Given the description of an element on the screen output the (x, y) to click on. 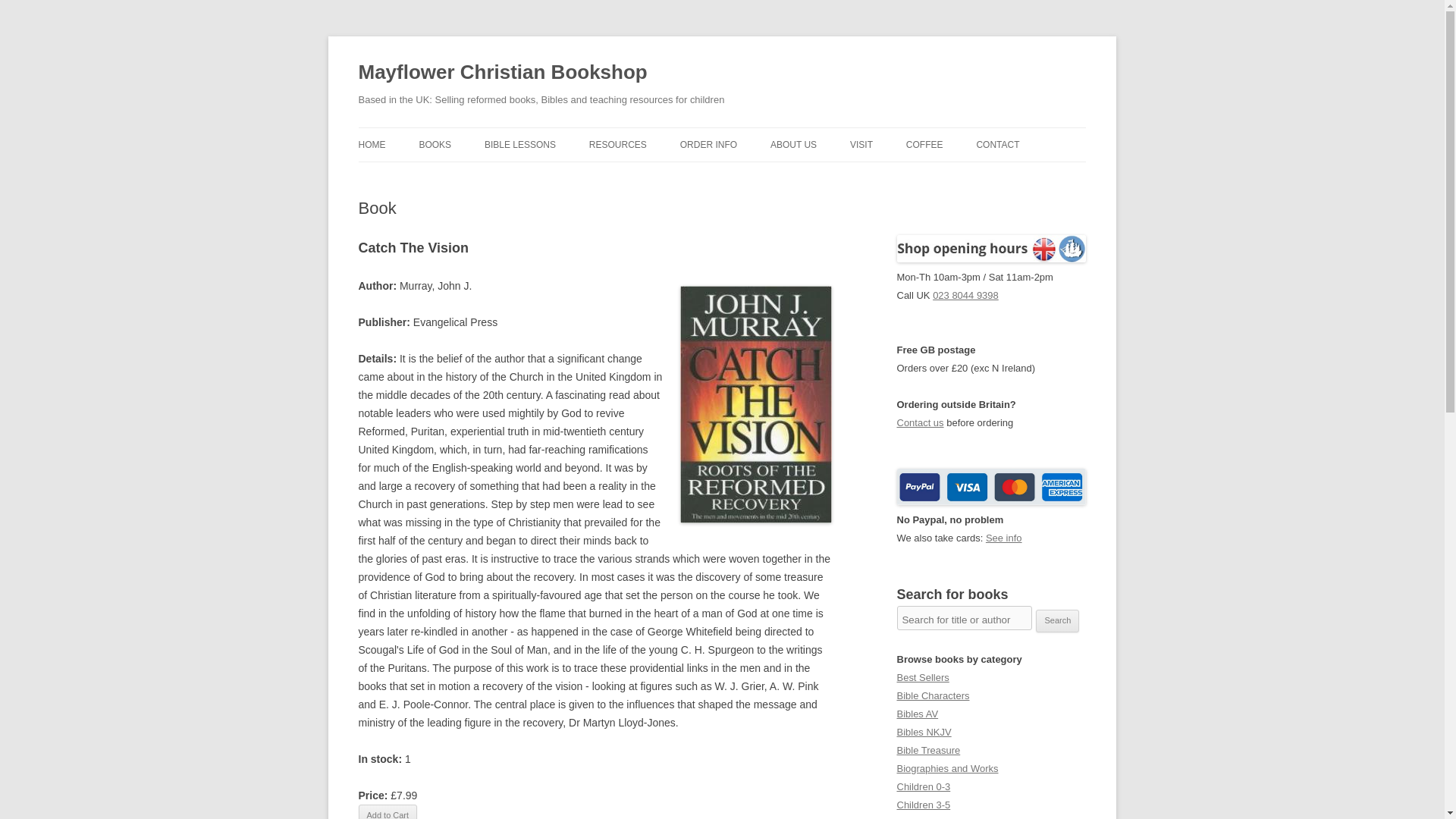
SEARCH FOR BOOKS (494, 176)
BIBLE LESSONS (520, 144)
023 8044 9398 (965, 295)
CONTACT (997, 144)
Mayflower Christian Bookshop (502, 72)
Search (1056, 620)
ABOUT US (793, 144)
BOOKS (435, 144)
ORDER INFO (707, 144)
